Given the description of an element on the screen output the (x, y) to click on. 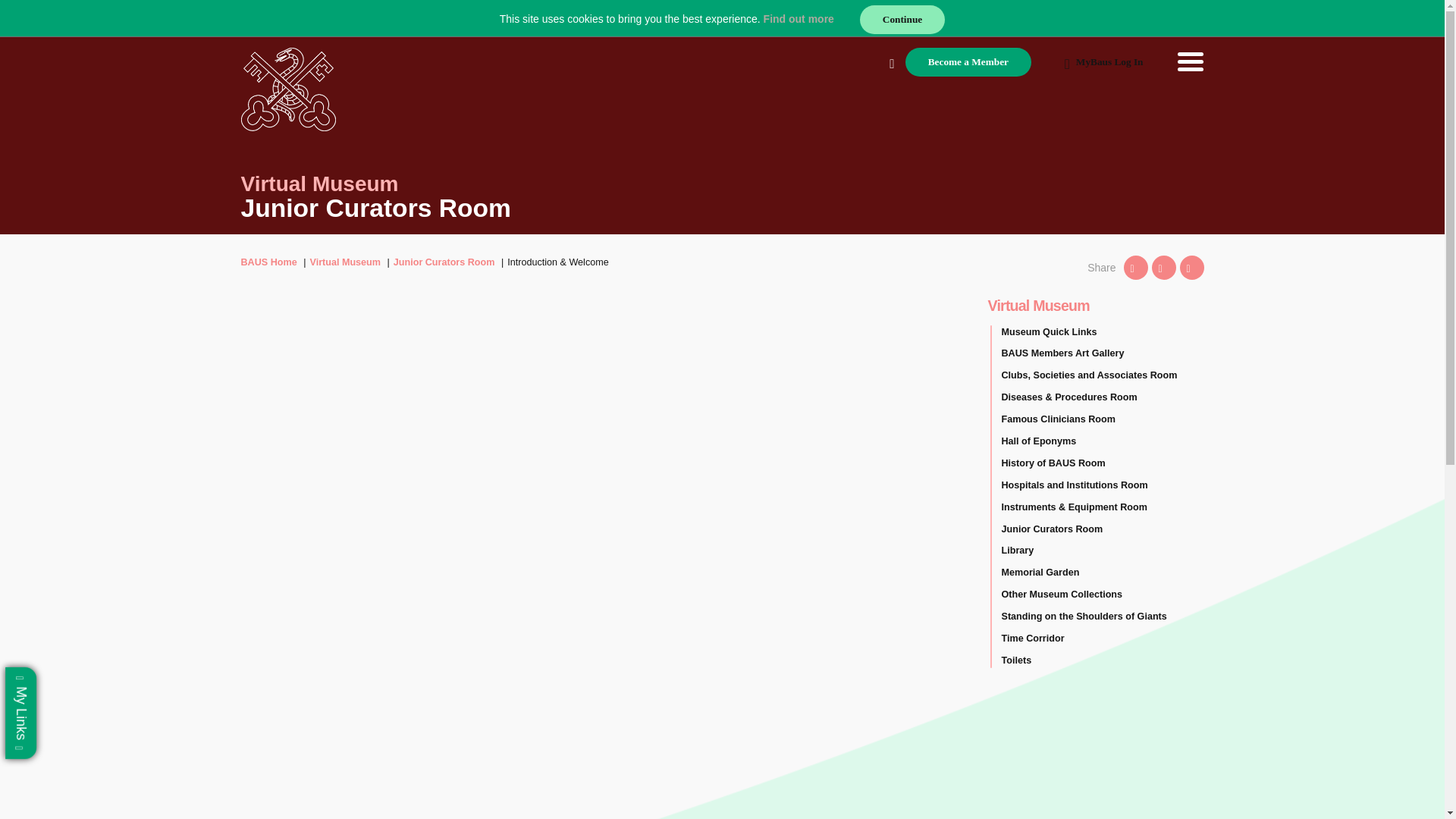
Continue (902, 19)
Skip to main content (21, 21)
Share on Facebook (1162, 267)
Find out more (798, 19)
Share on Twitter (1136, 267)
MyBaus Log In (1104, 61)
Share by Email (1191, 267)
Become a Member (967, 61)
Continue (902, 19)
